Given the description of an element on the screen output the (x, y) to click on. 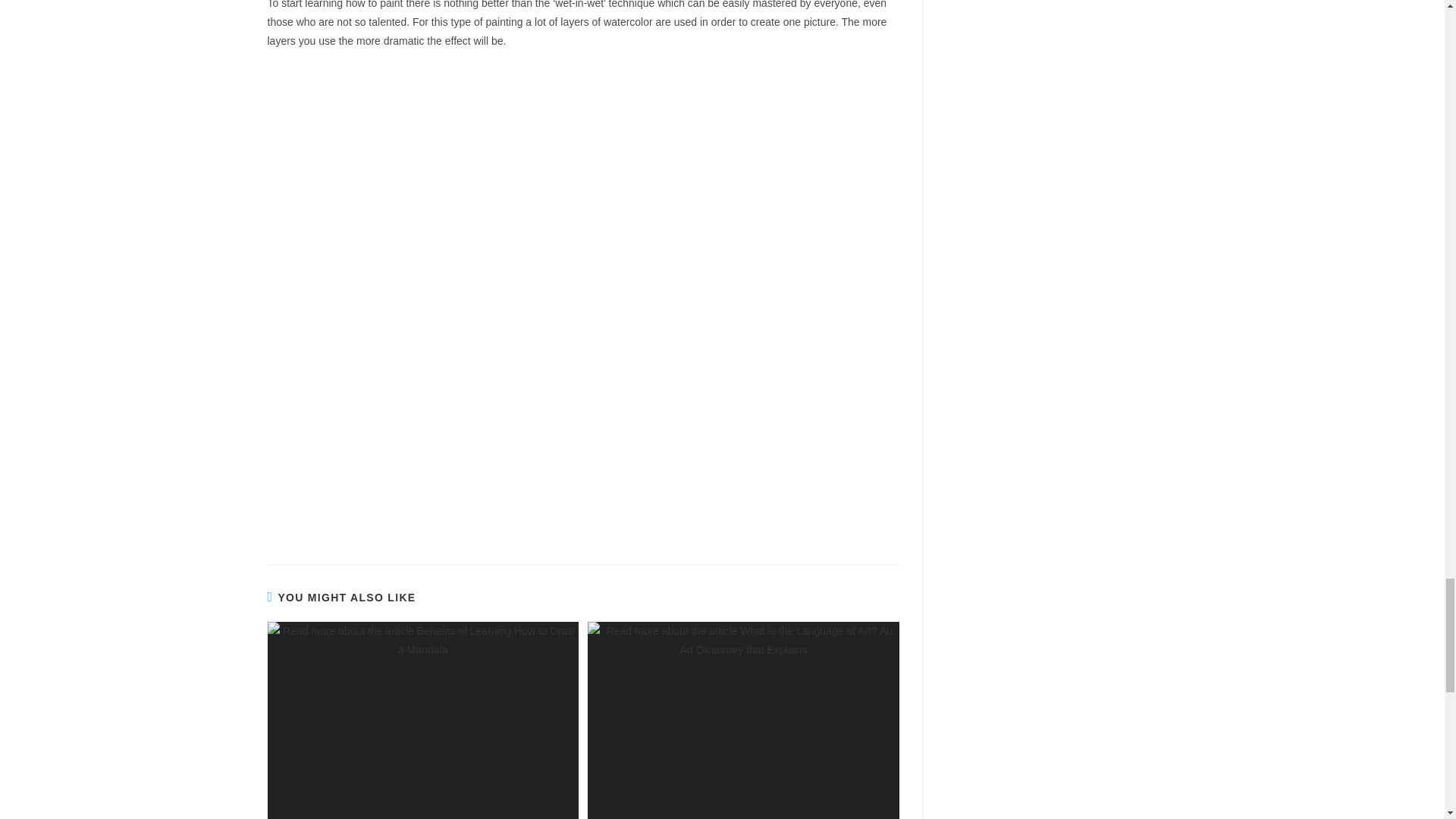
Benefits of Learning How to Draw a Mandala 2 (422, 720)
